Given the description of an element on the screen output the (x, y) to click on. 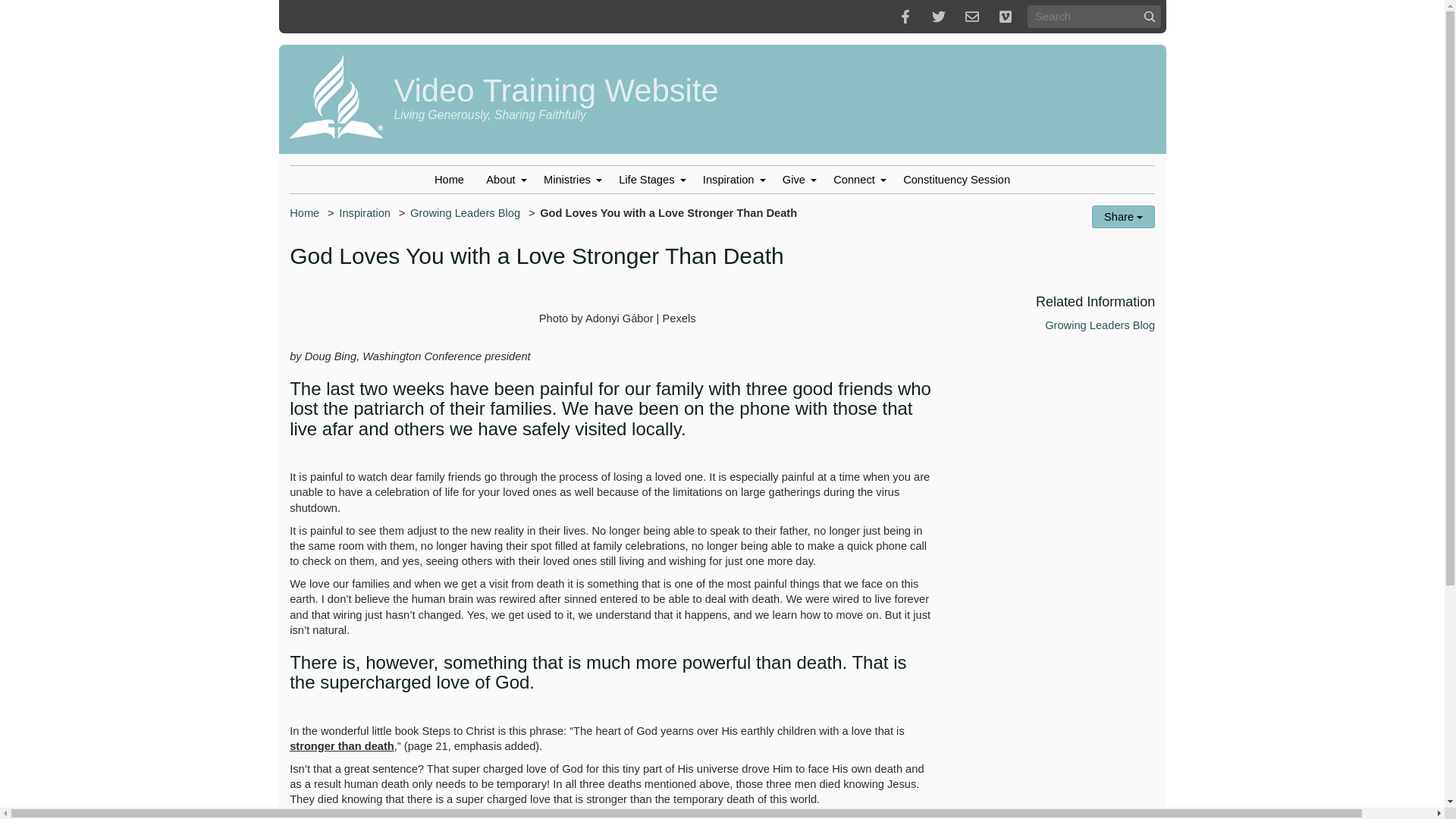
About (504, 180)
Inspiration (731, 180)
Home (448, 180)
Life Stages (650, 180)
Ministries (569, 180)
